Given the description of an element on the screen output the (x, y) to click on. 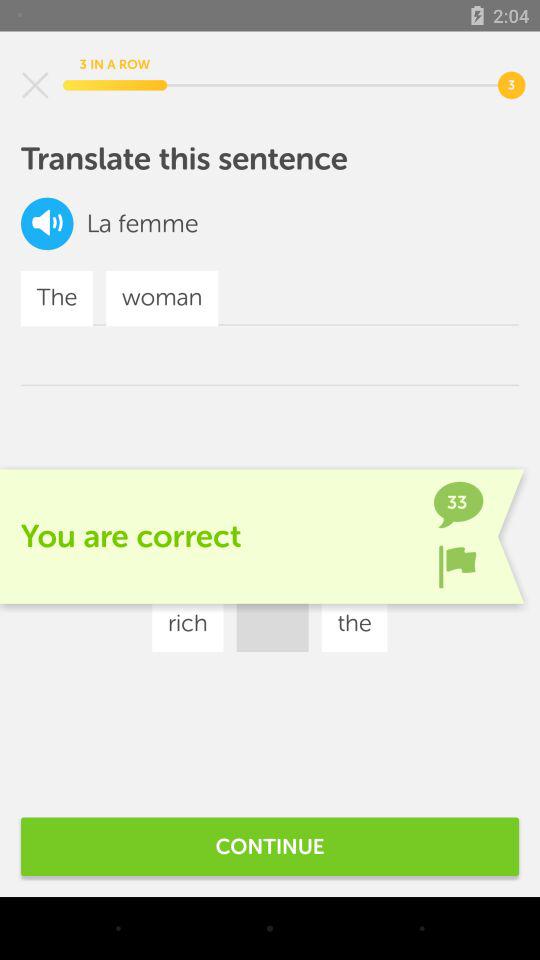
launch the item next to la icon (47, 223)
